Given the description of an element on the screen output the (x, y) to click on. 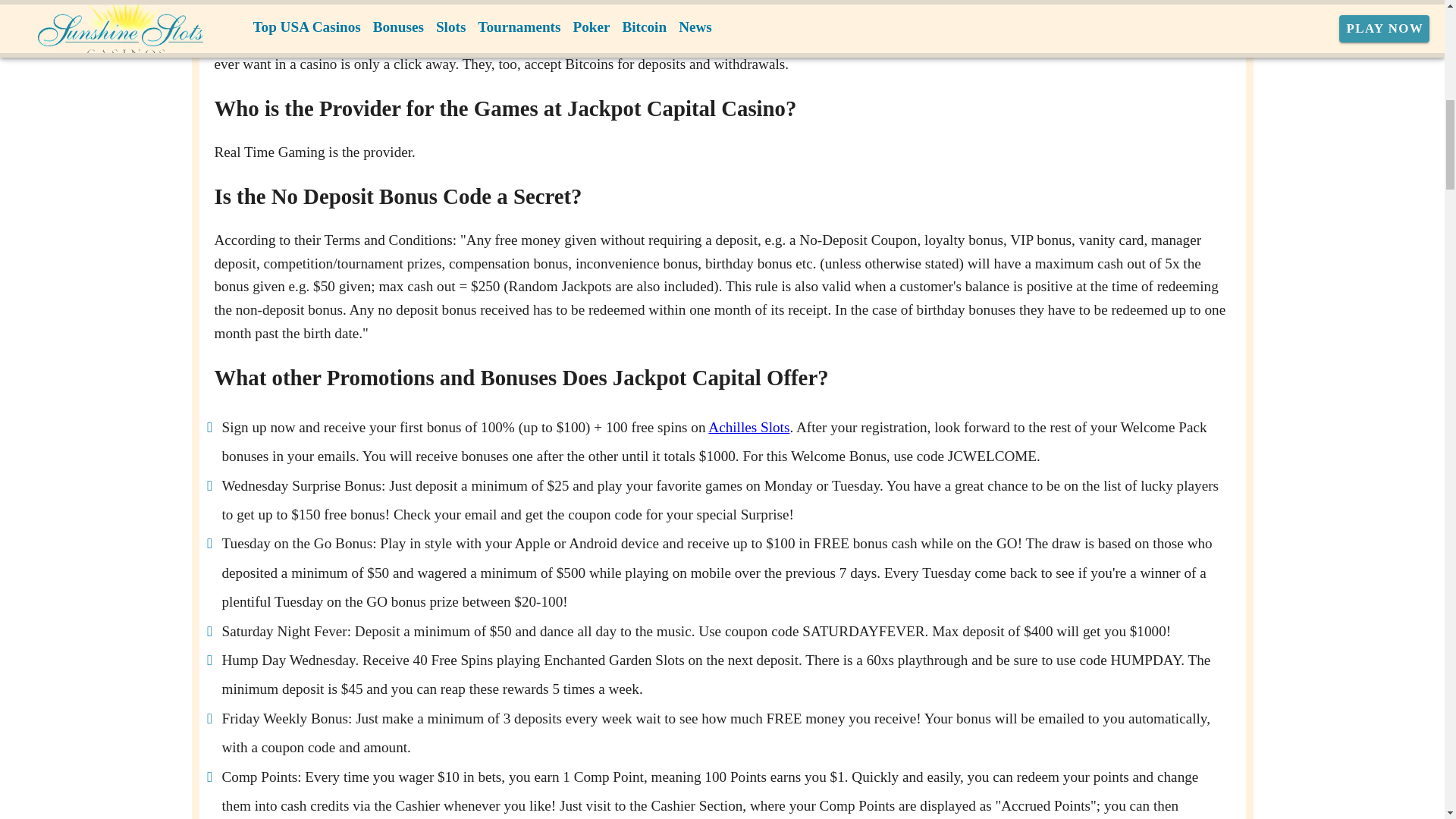
Achilles Slots (748, 426)
